Given the description of an element on the screen output the (x, y) to click on. 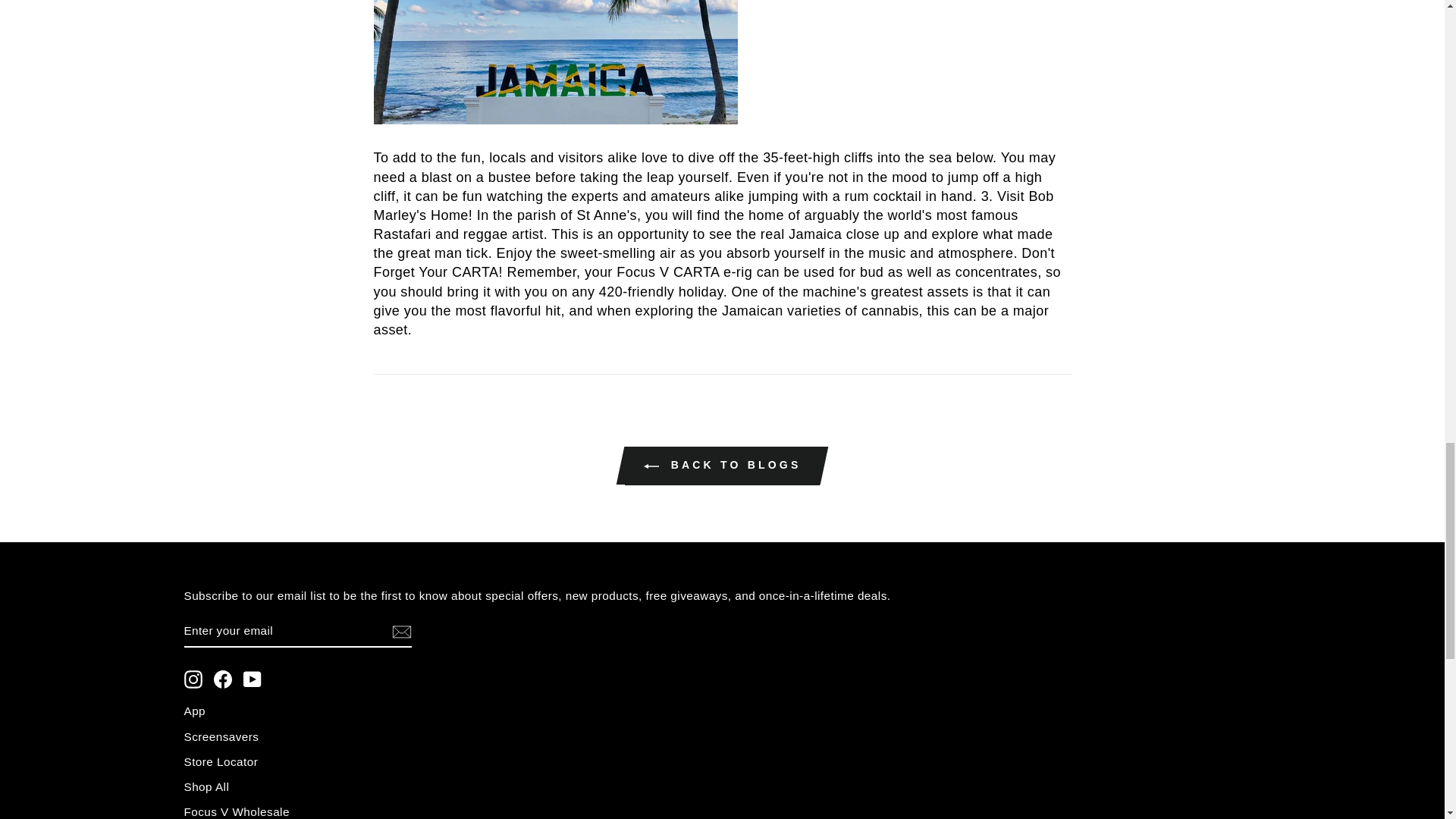
Focus V on YouTube (251, 679)
Focus V on Facebook (222, 679)
Focus V on Instagram (192, 679)
